Given the description of an element on the screen output the (x, y) to click on. 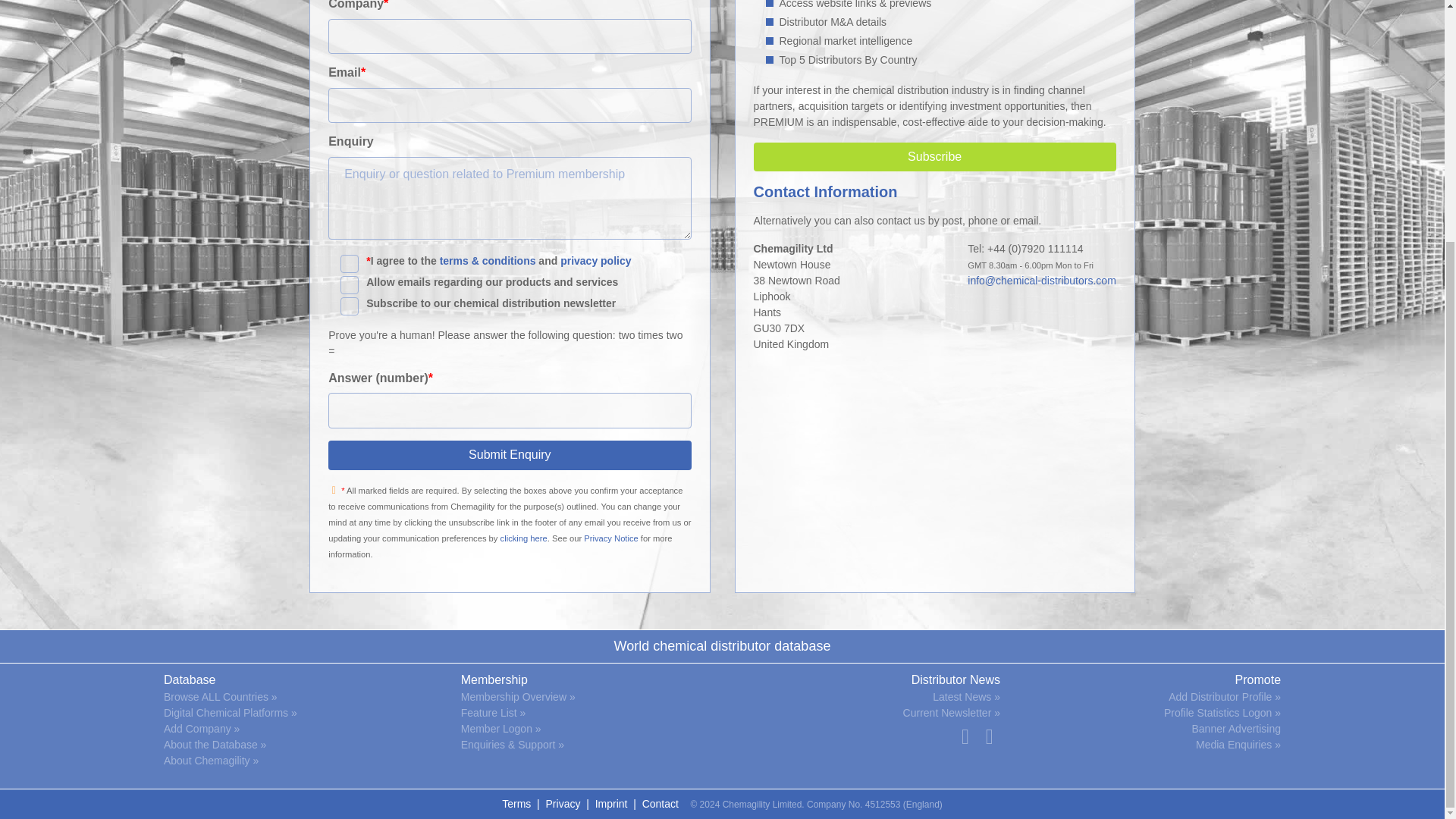
Follow Chemagility on Twitter (965, 736)
Submit Enquiry (509, 454)
Follow Chemagility on LinkedIn (989, 736)
